Given the description of an element on the screen output the (x, y) to click on. 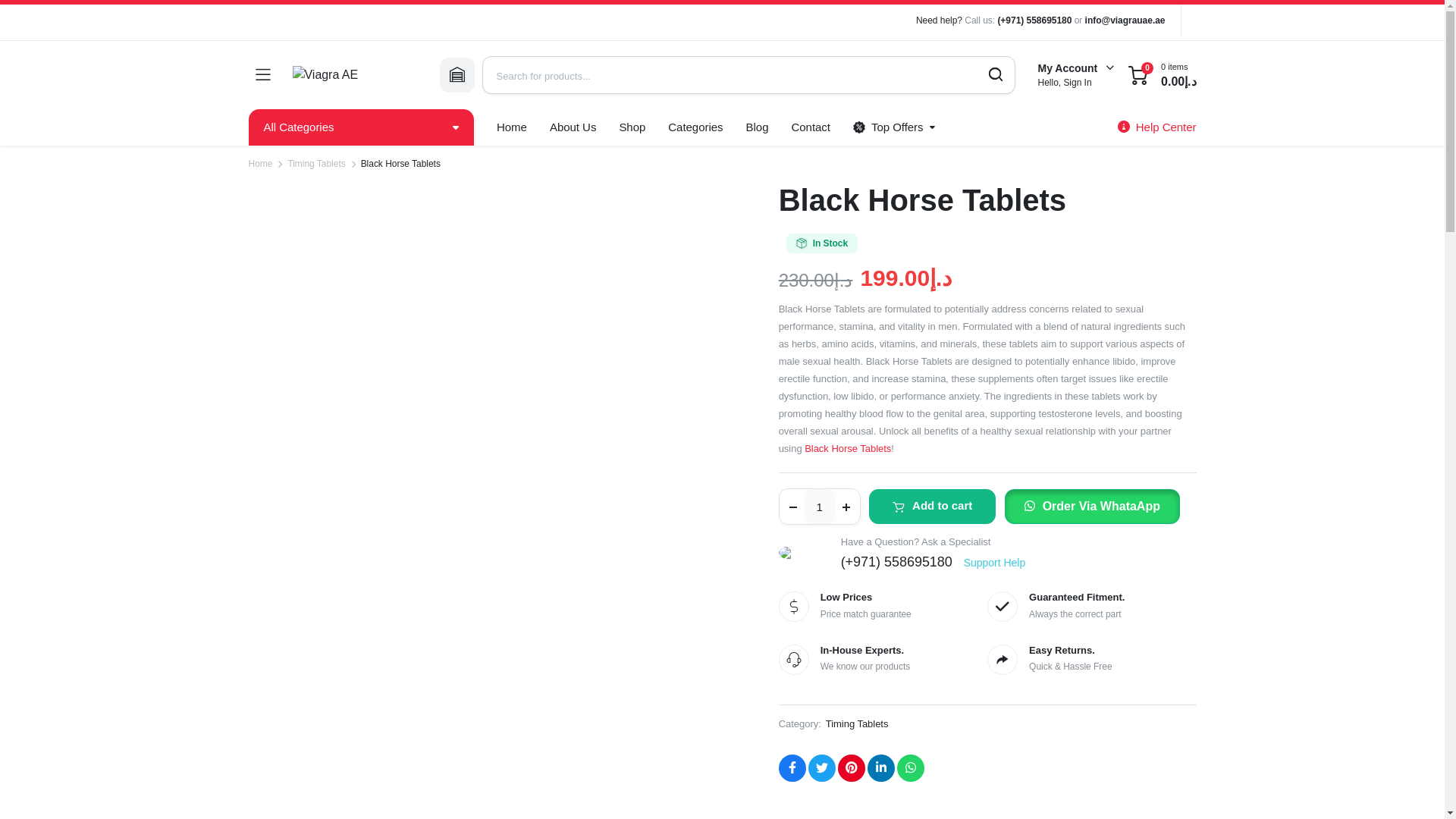
All Categories (361, 126)
Contact (809, 126)
Home (511, 126)
Shop (631, 126)
Viagra AE (354, 75)
1 (819, 506)
Top Offers (893, 126)
Help Center (1157, 126)
Blog (757, 126)
About Us (572, 126)
